Given the description of an element on the screen output the (x, y) to click on. 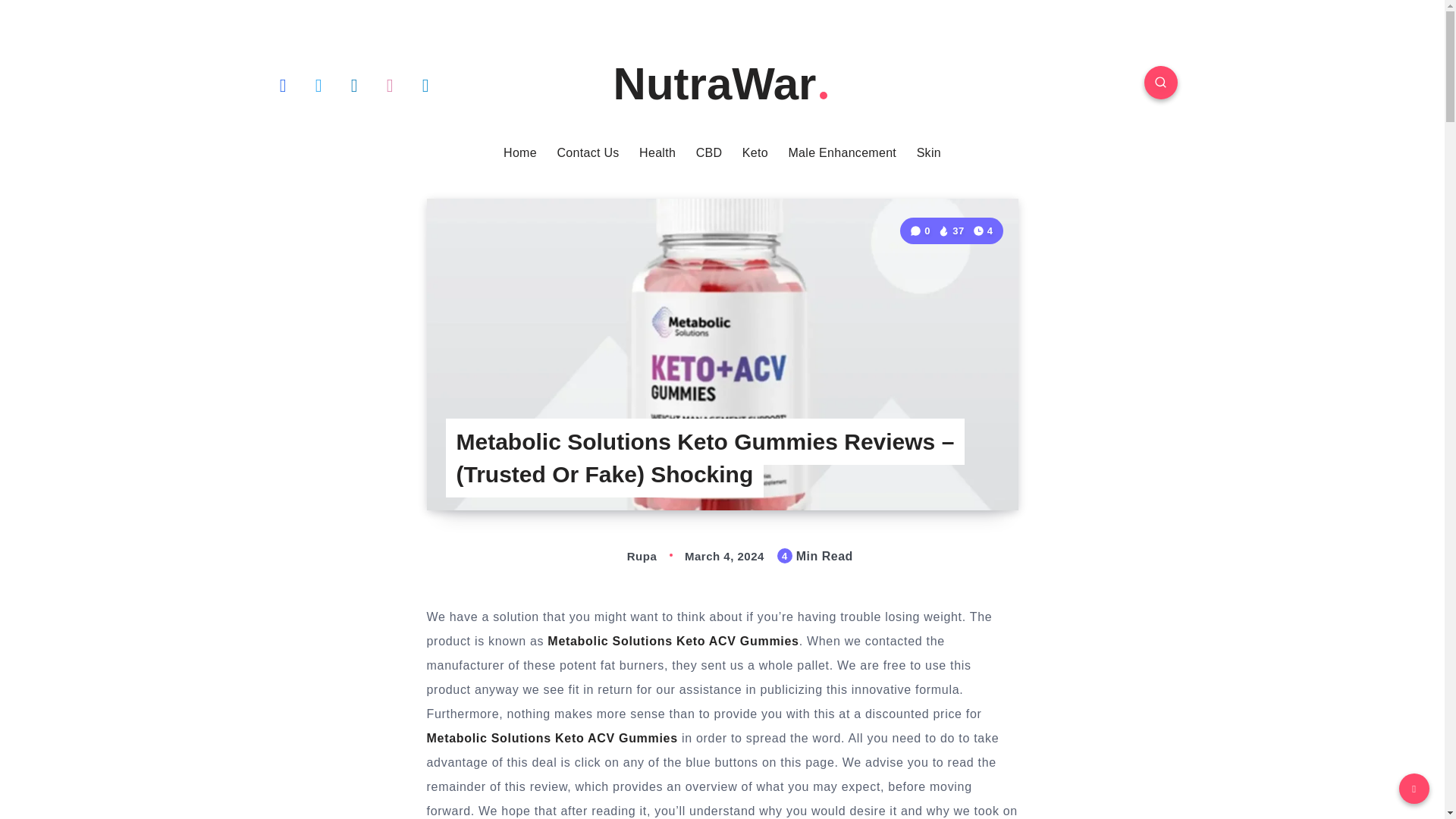
NutraWar (721, 83)
0 (921, 230)
Contact Us (587, 152)
0 Comments (921, 230)
Health (657, 152)
4 Min Read (982, 230)
Home (520, 152)
37 Views (950, 230)
Keto (755, 152)
Skin (928, 152)
CBD (708, 152)
Author: Rupa (626, 555)
Rupa (626, 555)
Male Enhancement (841, 152)
